Given the description of an element on the screen output the (x, y) to click on. 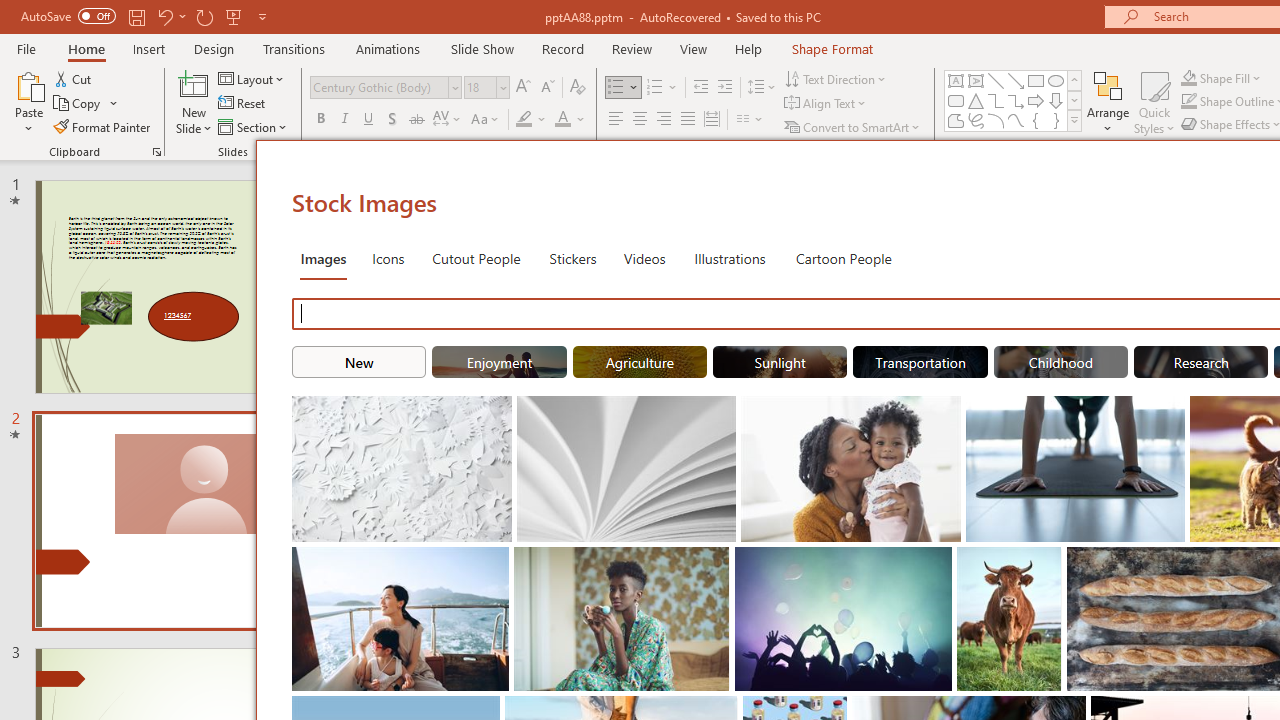
Shape Fill Aqua, Accent 2 (1188, 78)
